Given the description of an element on the screen output the (x, y) to click on. 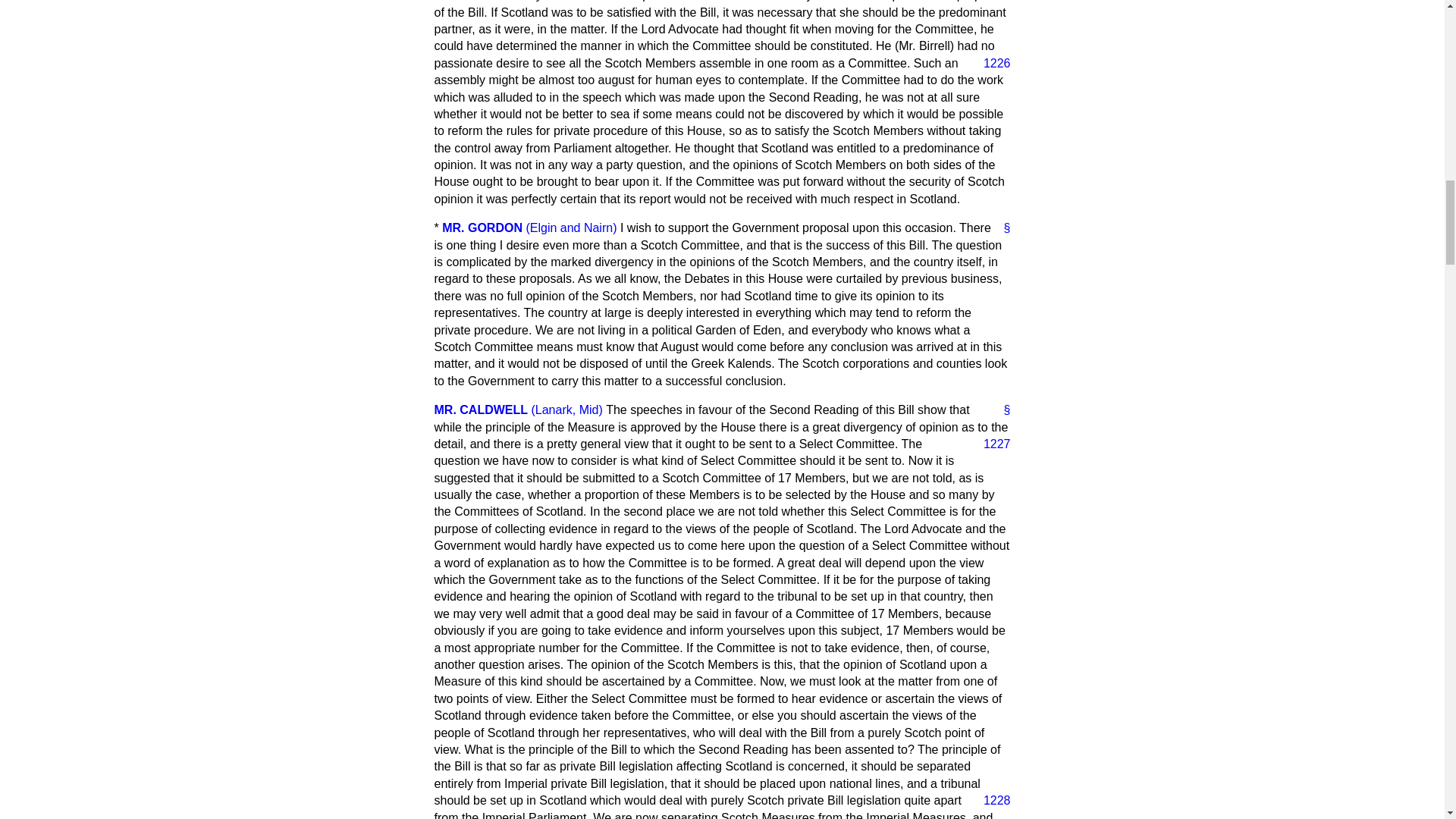
Link to this speech by Hon. John Gordon (1000, 228)
MR. CALDWELL (480, 409)
1227 (990, 443)
1226 (990, 63)
MR. GORDON (482, 227)
1228 (990, 800)
